Given the description of an element on the screen output the (x, y) to click on. 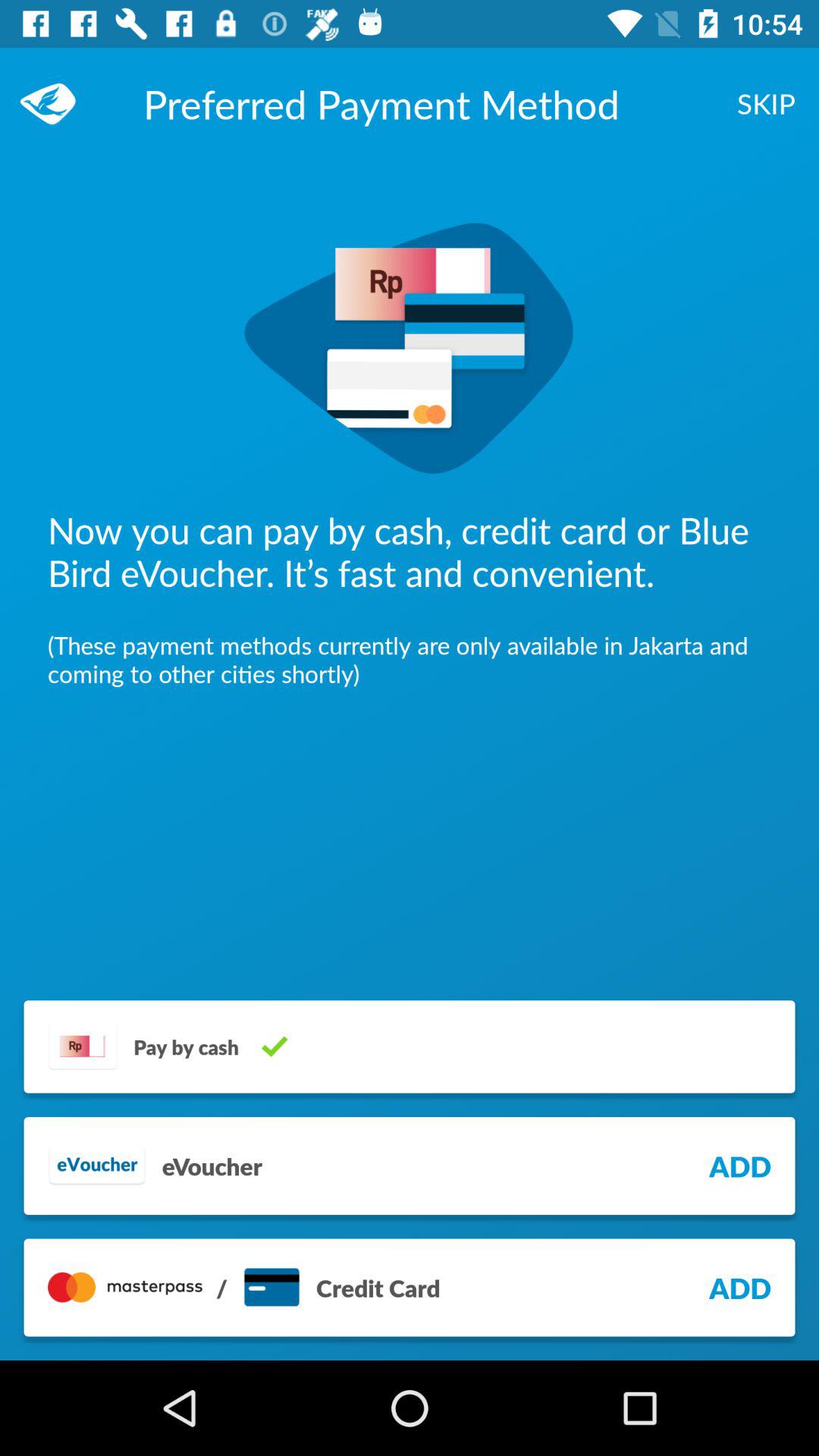
open skip (766, 103)
